Given the description of an element on the screen output the (x, y) to click on. 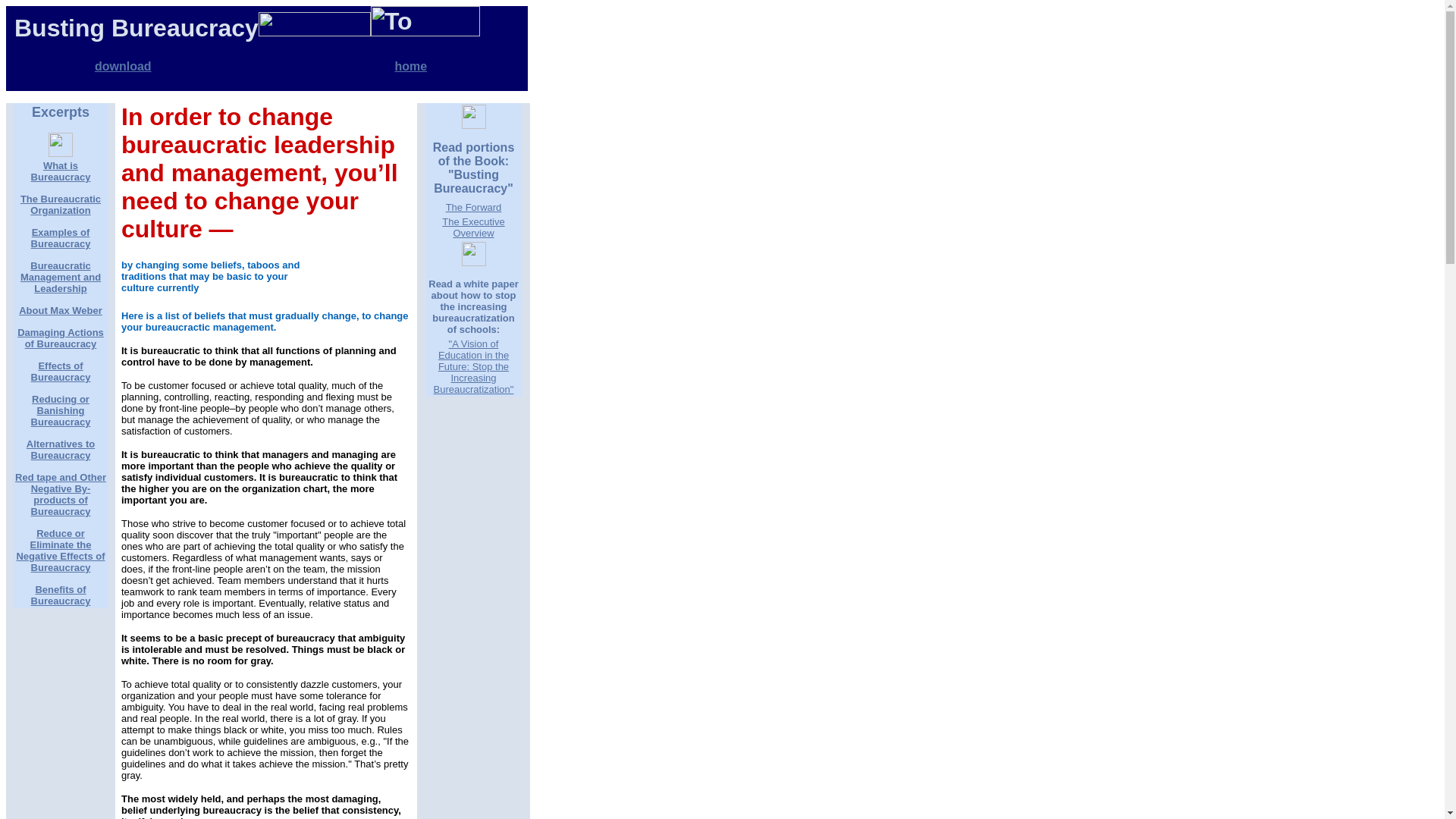
The Executive Overview (472, 227)
Bureaucratic Management and Leadership (60, 277)
Benefits of Bureaucracy (60, 594)
The Forward (473, 205)
Reducing or Banishing Bureaucracy (60, 410)
What is Bureaucracy (60, 170)
Effects of Bureaucracy (60, 371)
Damaging Actions of Bureaucracy (60, 337)
The Bureaucratic Organization (60, 204)
Alternatives to Bureaucracy (60, 449)
About Max Weber (59, 310)
home (410, 65)
Reduce or Eliminate the Negative Effects of Bureaucracy (60, 550)
download (122, 65)
